Given the description of an element on the screen output the (x, y) to click on. 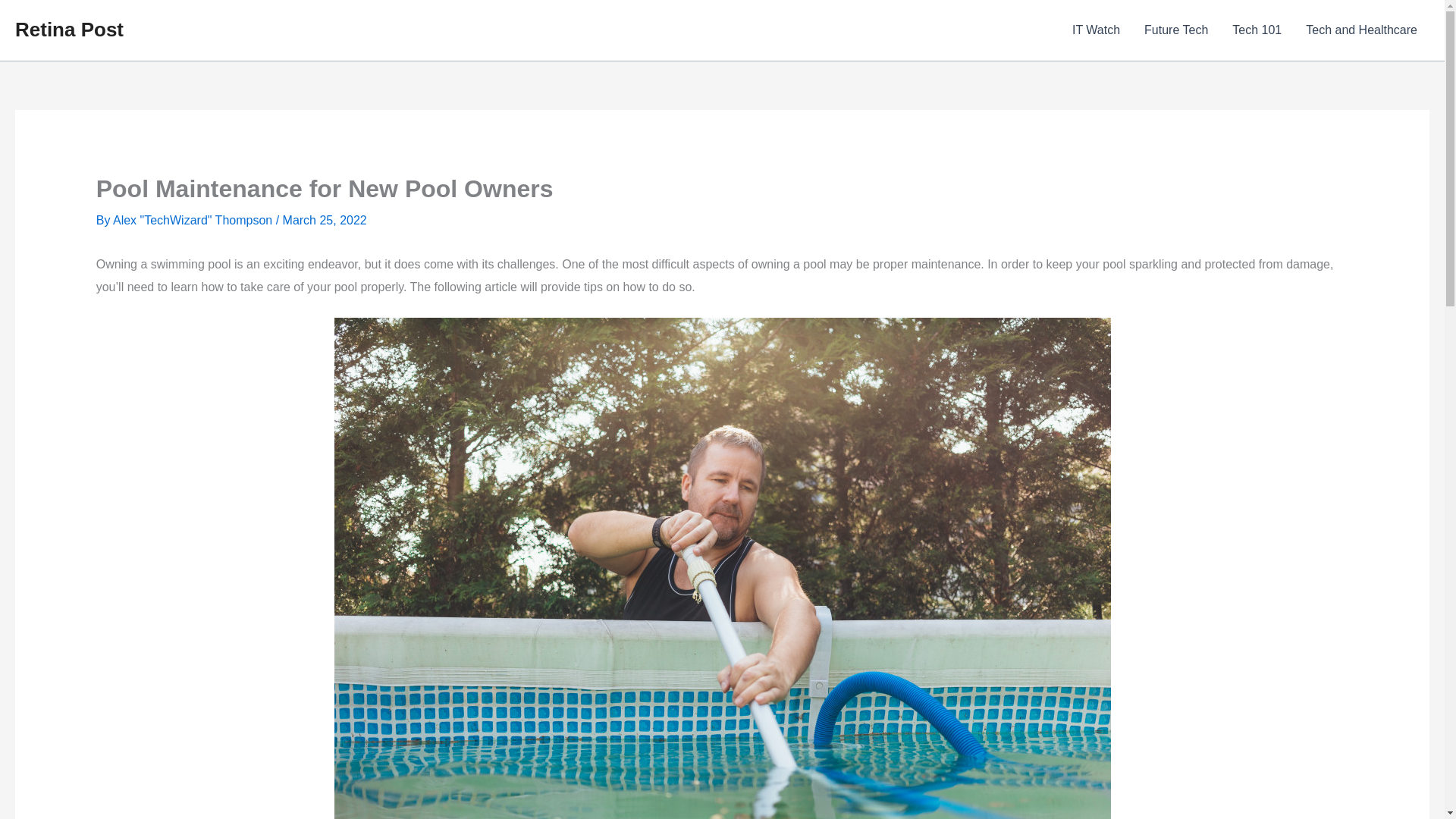
IT Watch (1095, 30)
View all posts by Alex  (194, 219)
Retina Post (68, 29)
Alex "TechWizard" Thompson (194, 219)
Future Tech (1176, 30)
Tech 101 (1257, 30)
Tech and Healthcare (1361, 30)
